Given the description of an element on the screen output the (x, y) to click on. 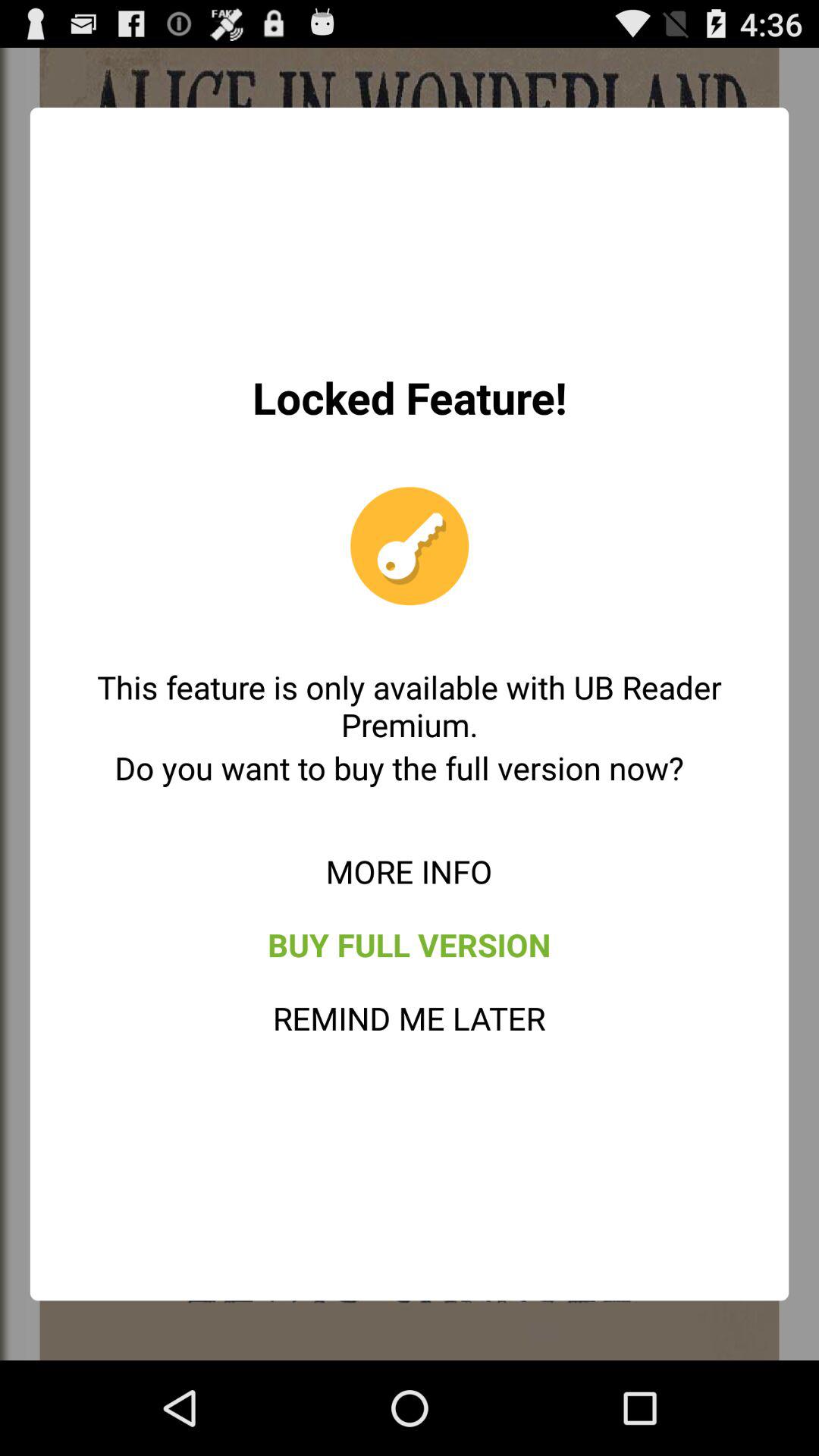
turn on the item below do you want icon (408, 870)
